Given the description of an element on the screen output the (x, y) to click on. 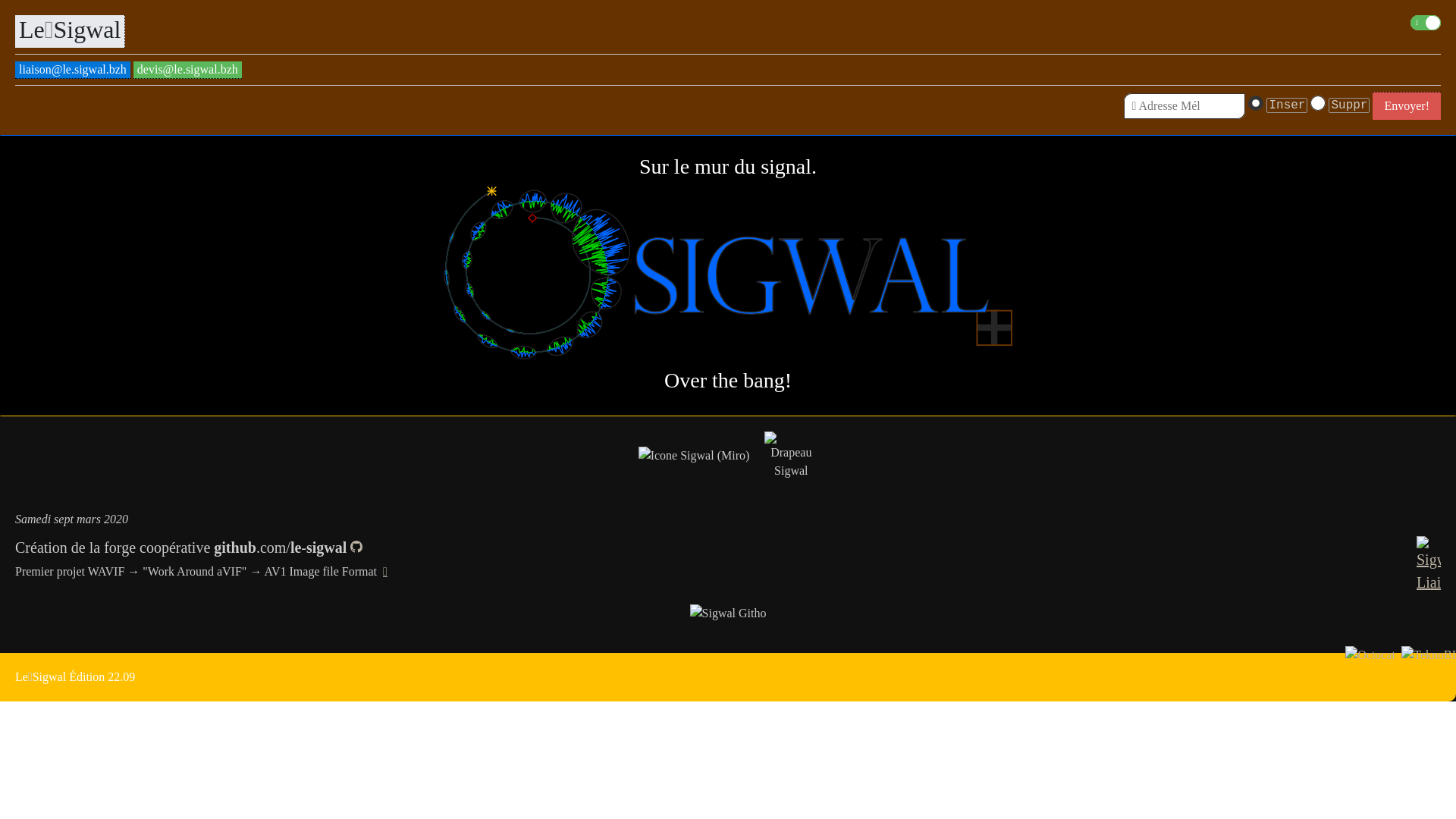
Envoyer! Element type: text (1406, 105)
liaison@le.sigwal.bzh Element type: text (72, 69)
devis@le.sigwal.bzh Element type: text (187, 69)
